Given the description of an element on the screen output the (x, y) to click on. 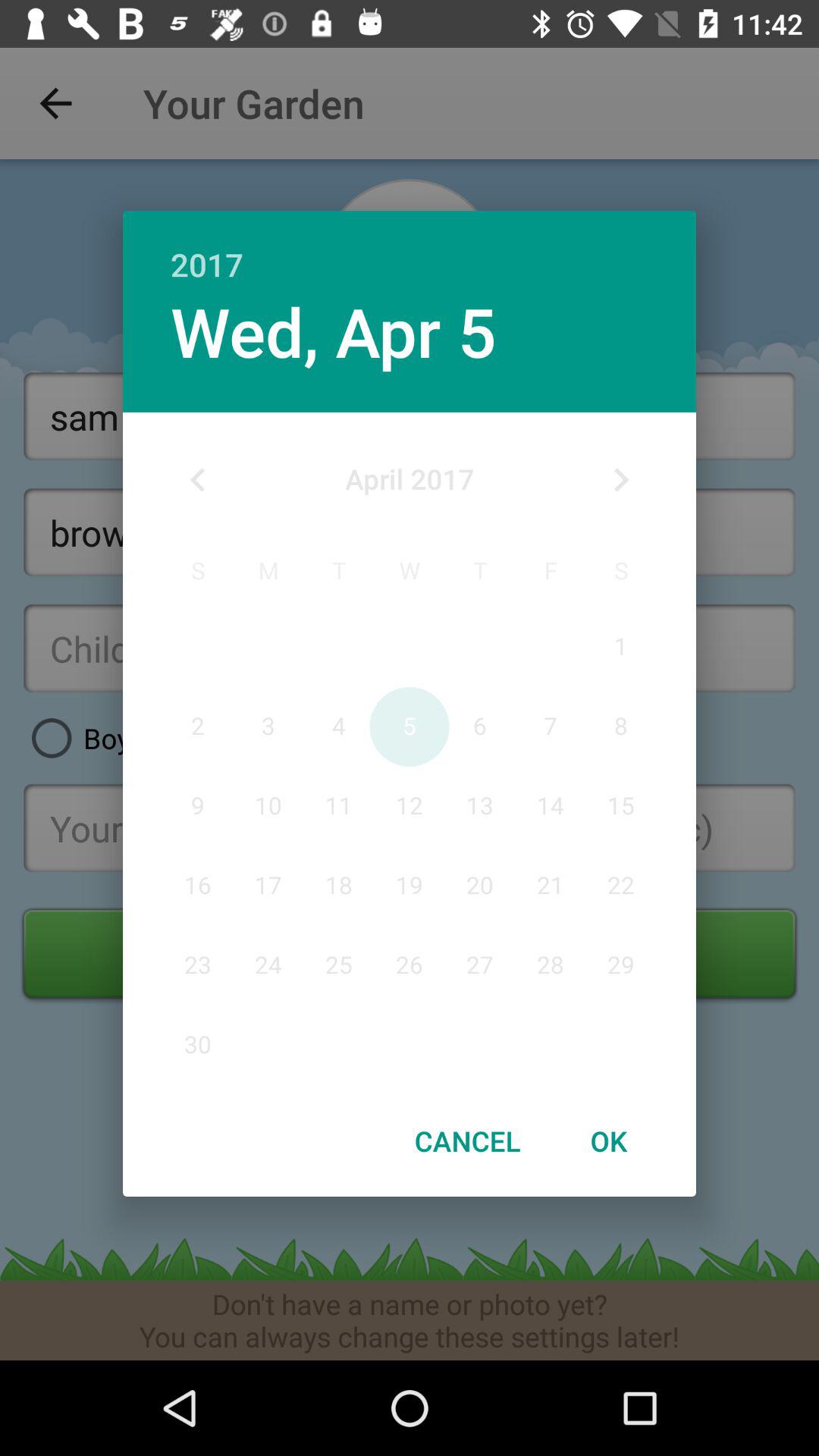
press item to the right of the cancel (608, 1140)
